Given the description of an element on the screen output the (x, y) to click on. 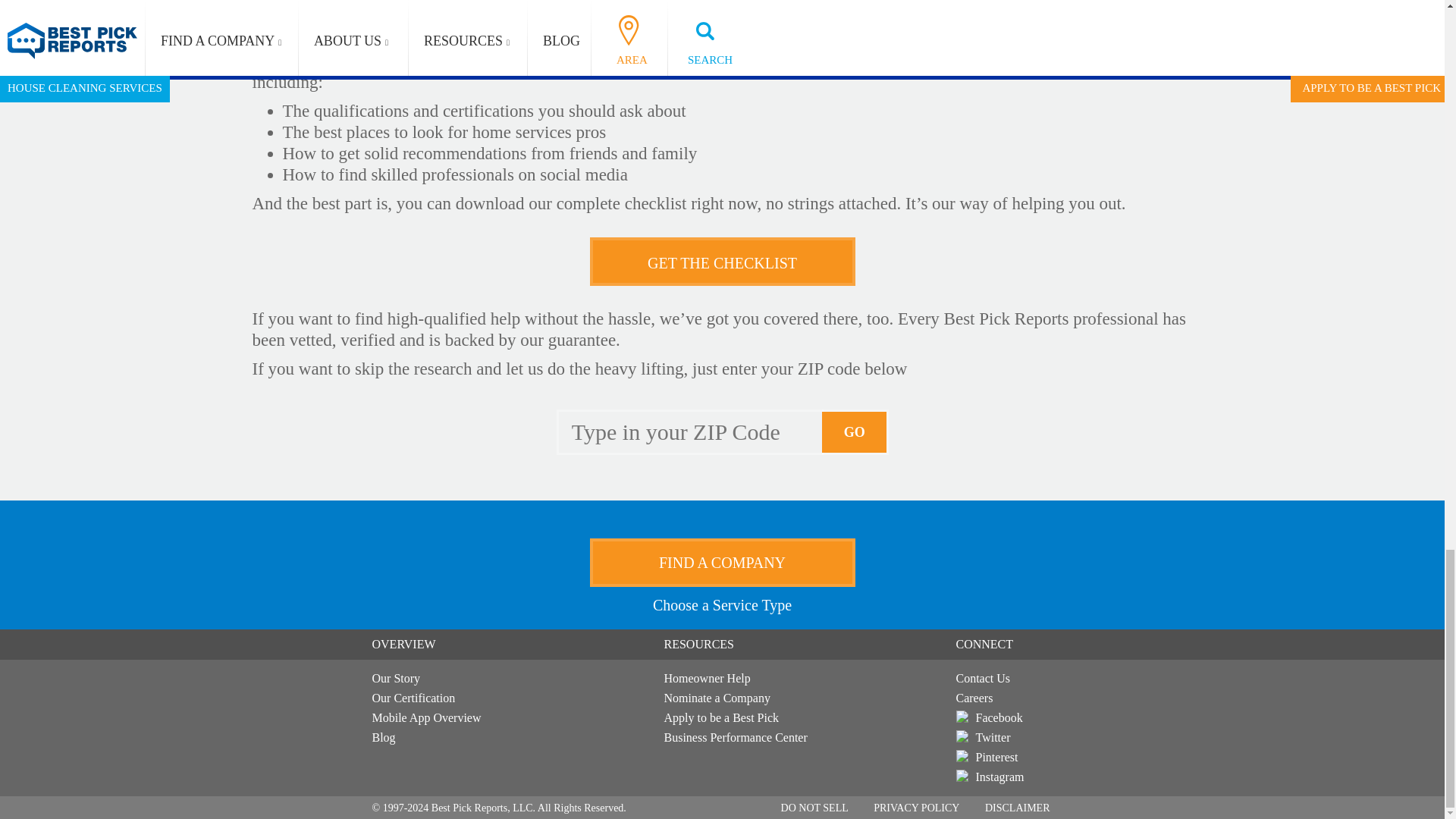
Go (855, 432)
Go (855, 432)
Please enter a 5-digit ZIP Code (690, 432)
